Given the description of an element on the screen output the (x, y) to click on. 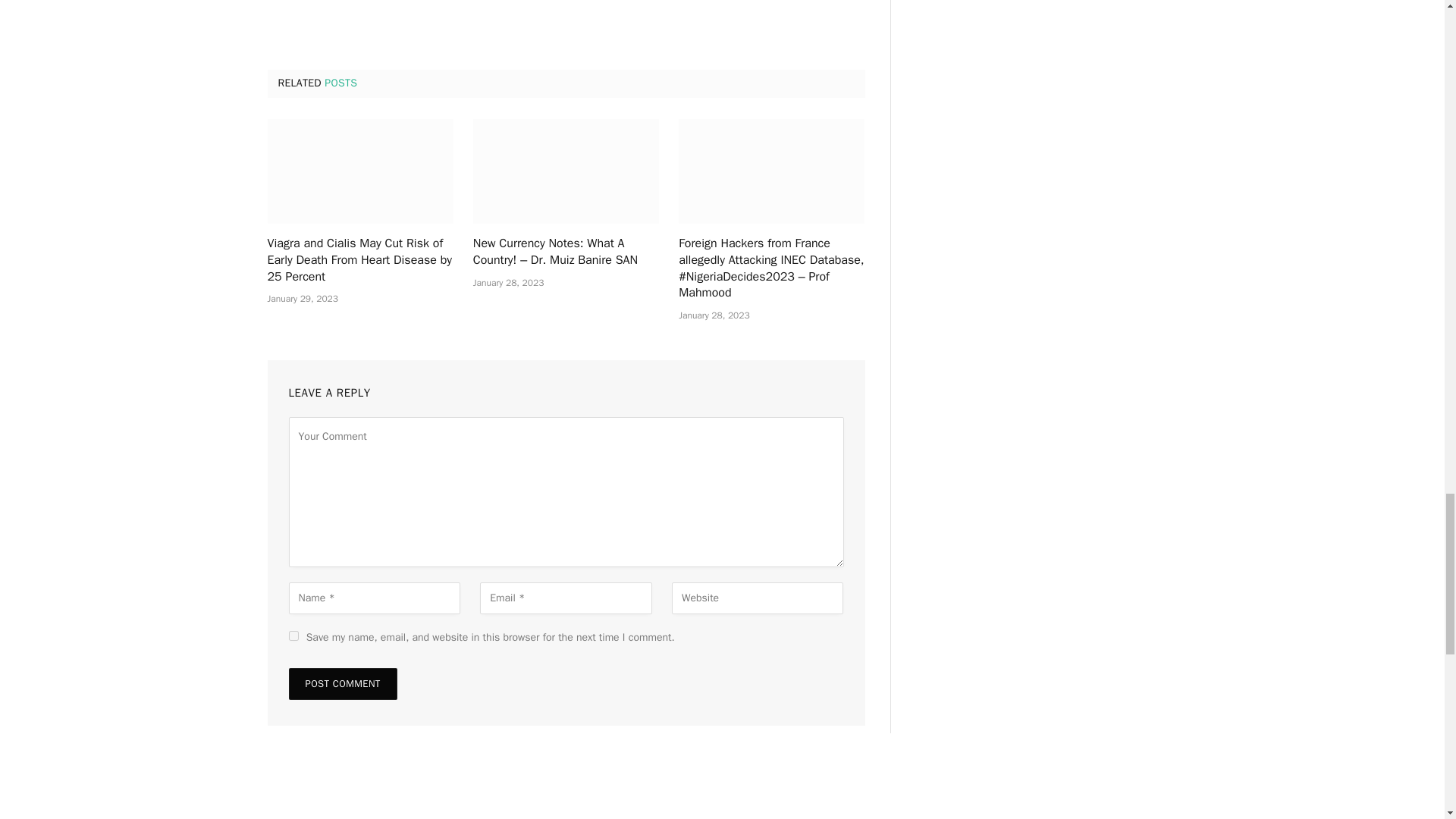
yes (293, 635)
Post Comment (342, 684)
